Given the description of an element on the screen output the (x, y) to click on. 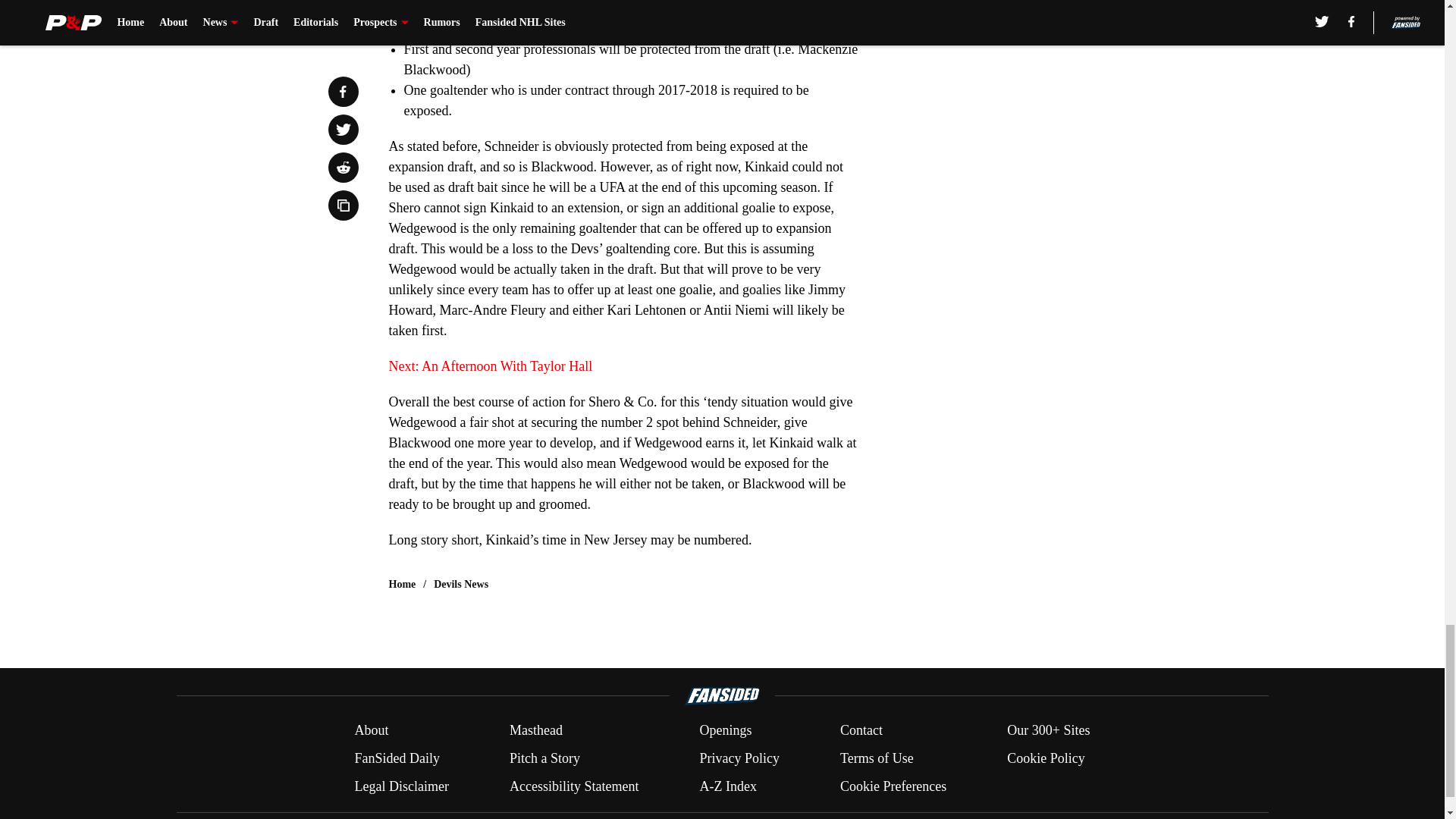
Pitch a Story (544, 758)
About (370, 730)
Next: An Afternoon With Taylor Hall (490, 365)
Home (401, 584)
Cookie Policy (1045, 758)
FanSided Daily (396, 758)
Privacy Policy (738, 758)
Openings (724, 730)
Legal Disclaimer (400, 786)
Devils News (460, 584)
Contact (861, 730)
Terms of Use (877, 758)
Masthead (535, 730)
